Given the description of an element on the screen output the (x, y) to click on. 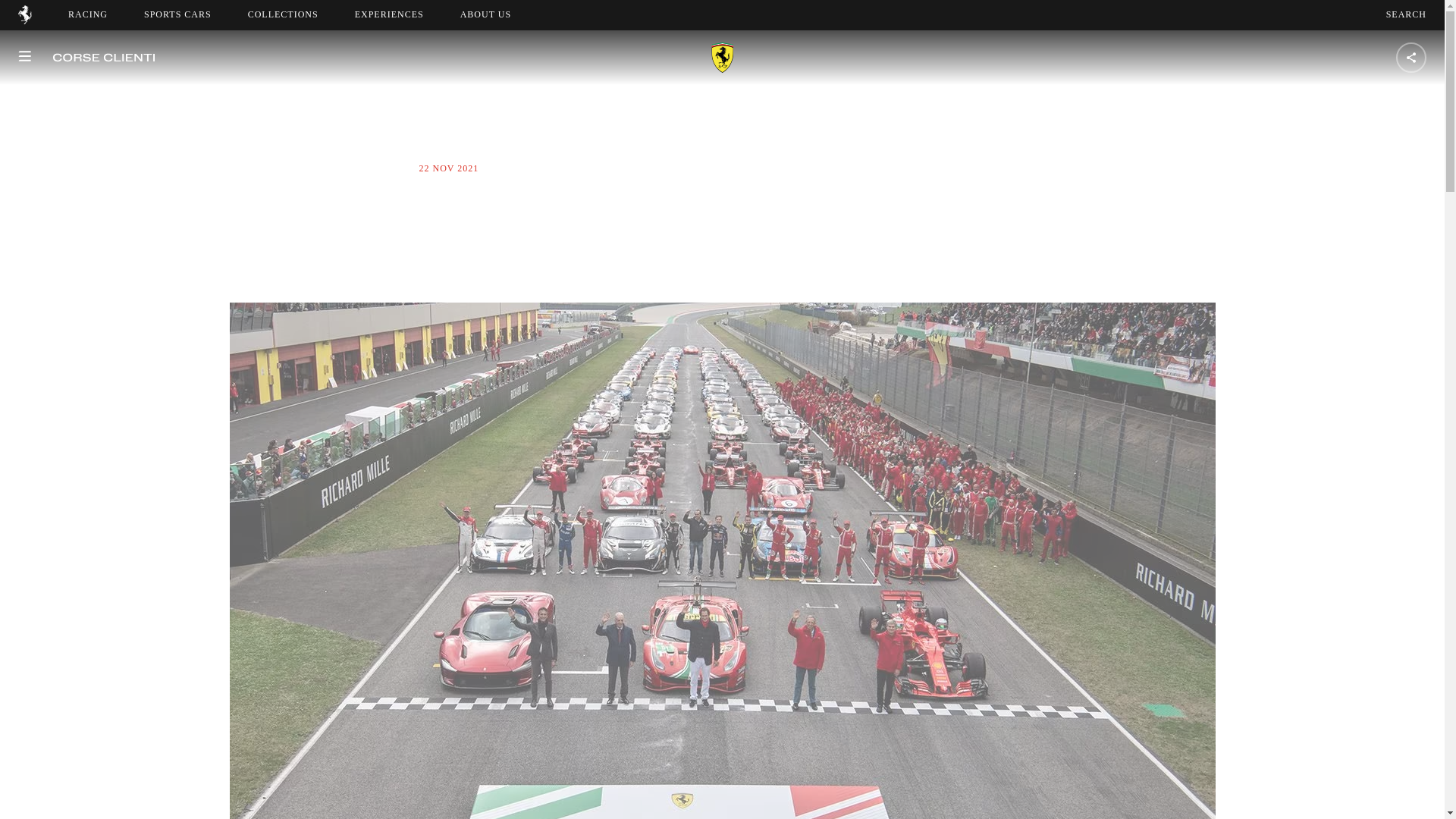
SPORTS CARS (177, 14)
Ferrari logo (24, 19)
COLLECTIONS (282, 14)
ABOUT US (485, 14)
SEARCH (1406, 14)
EXPERIENCES (389, 14)
RACING (87, 14)
